Given the description of an element on the screen output the (x, y) to click on. 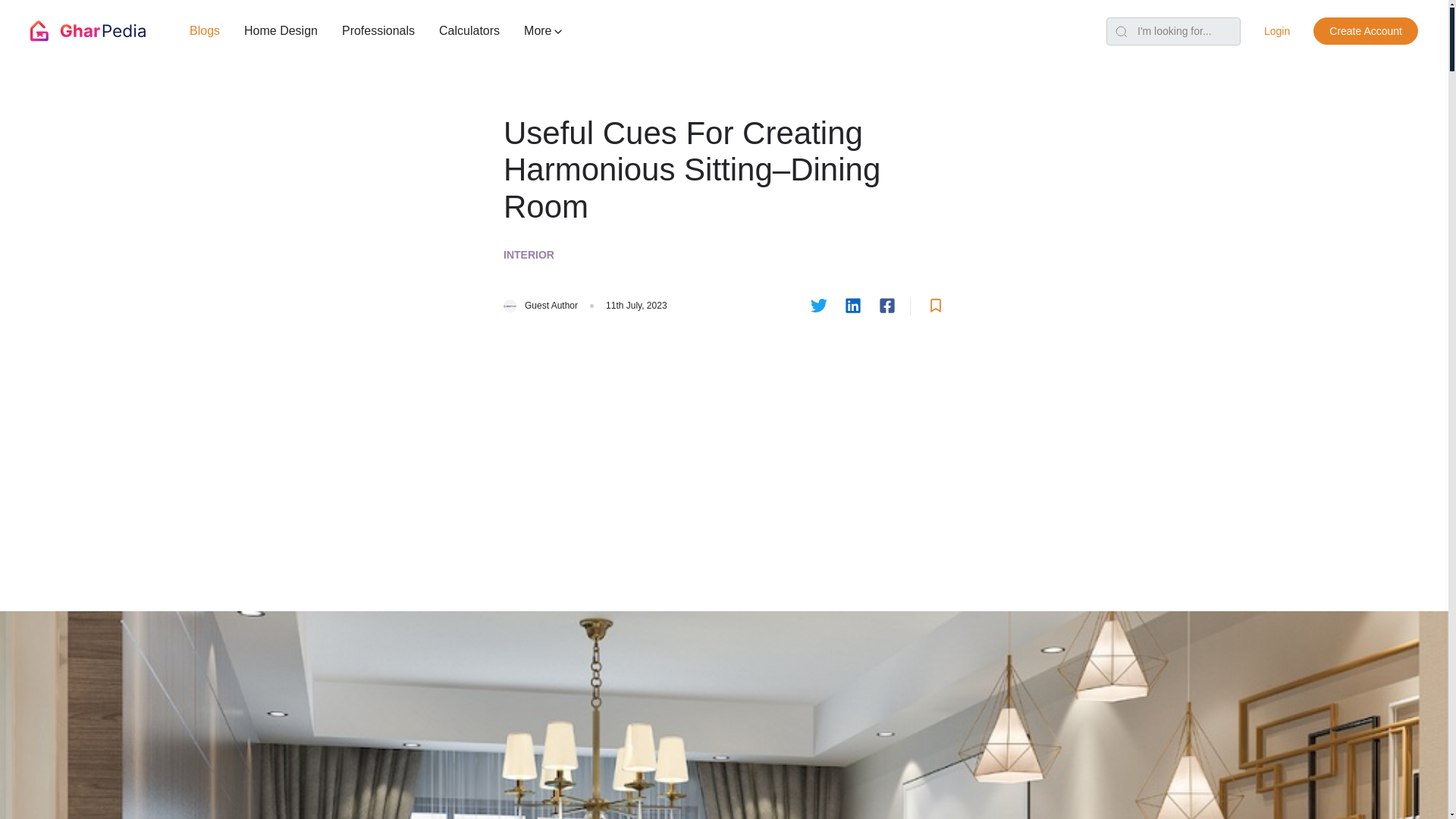
Home Design (280, 30)
Blogs (204, 30)
Facebook (887, 305)
